Given the description of an element on the screen output the (x, y) to click on. 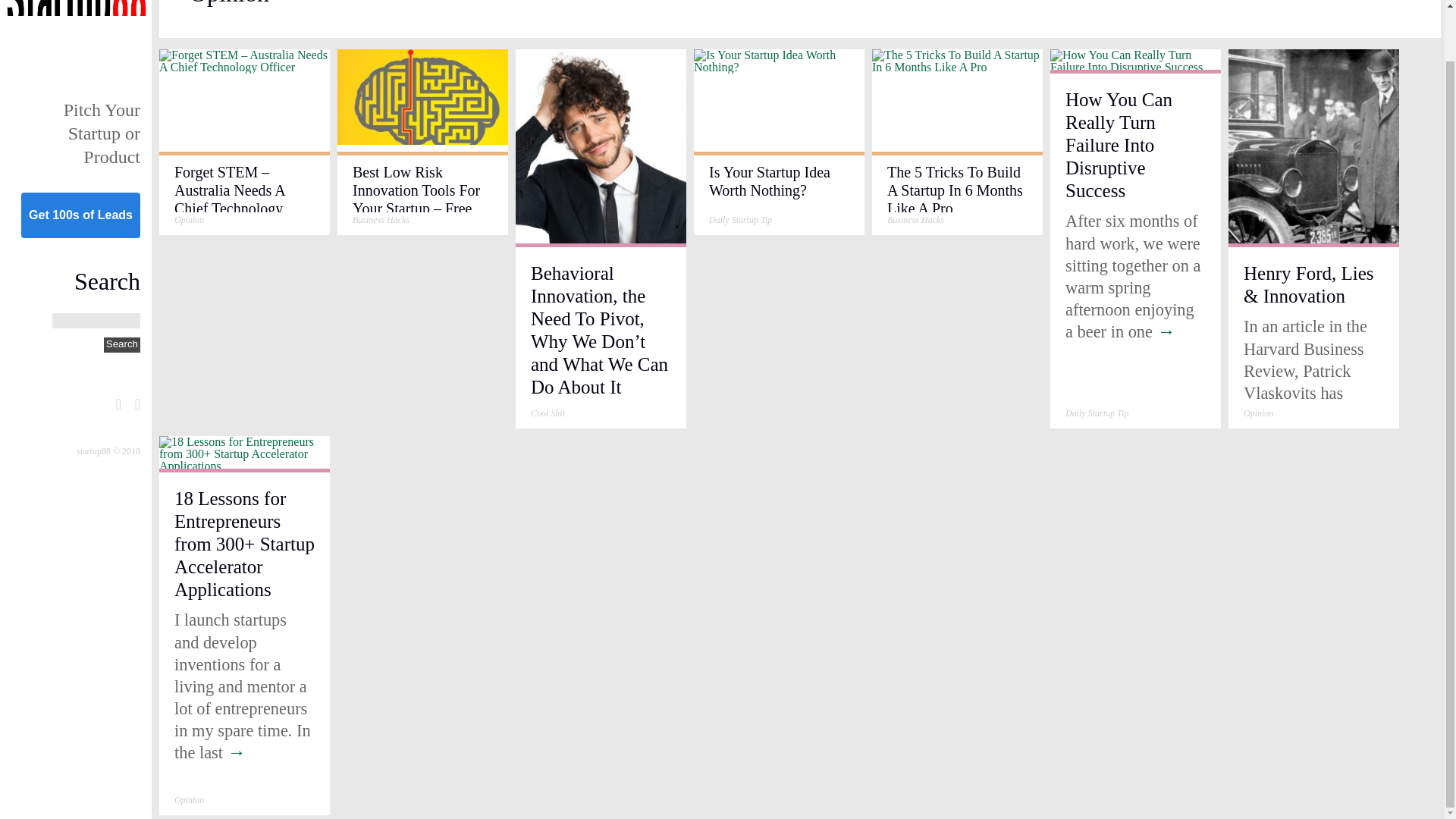
How You Can Really Turn Failure Into Disruptive Success (1118, 144)
How You Can Really Turn Failure Into Disruptive Success (1135, 66)
Daily Startup Tip (740, 219)
Search (121, 344)
Business Hacks (914, 219)
Business Hacks (914, 219)
Get 100s of Leads (80, 215)
Daily Startup Tip (740, 219)
The 5 Tricks To Build A Startup In 6 Months Like A Pro (954, 190)
Cool Shit (547, 412)
